Given the description of an element on the screen output the (x, y) to click on. 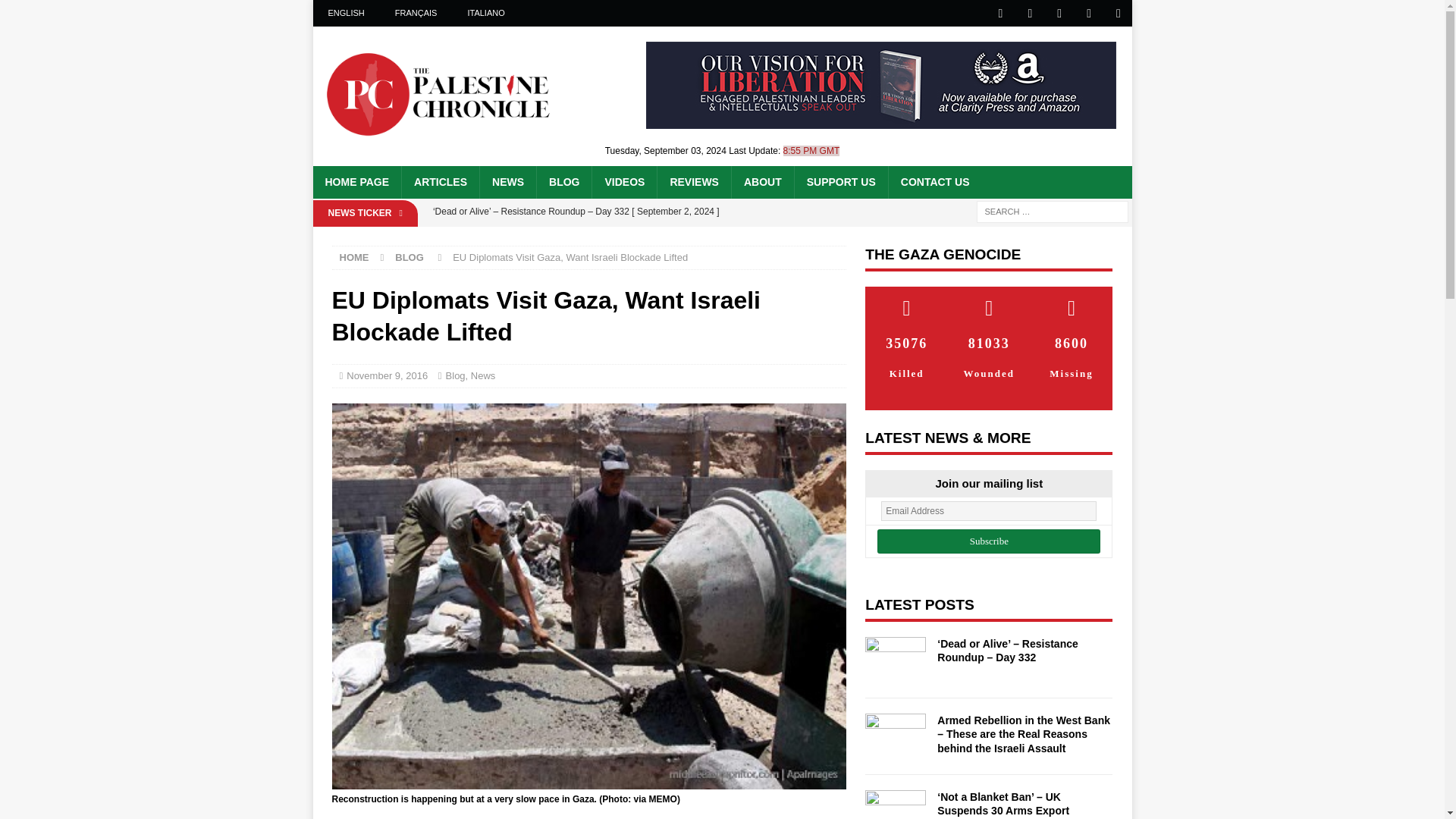
SUPPORT US (840, 182)
Subscribe (988, 541)
Search (56, 11)
ITALIANO (485, 13)
BLOG (563, 182)
ABOUT (761, 182)
REVIEWS (693, 182)
CONTACT US (934, 182)
ARTICLES (440, 182)
